Given the description of an element on the screen output the (x, y) to click on. 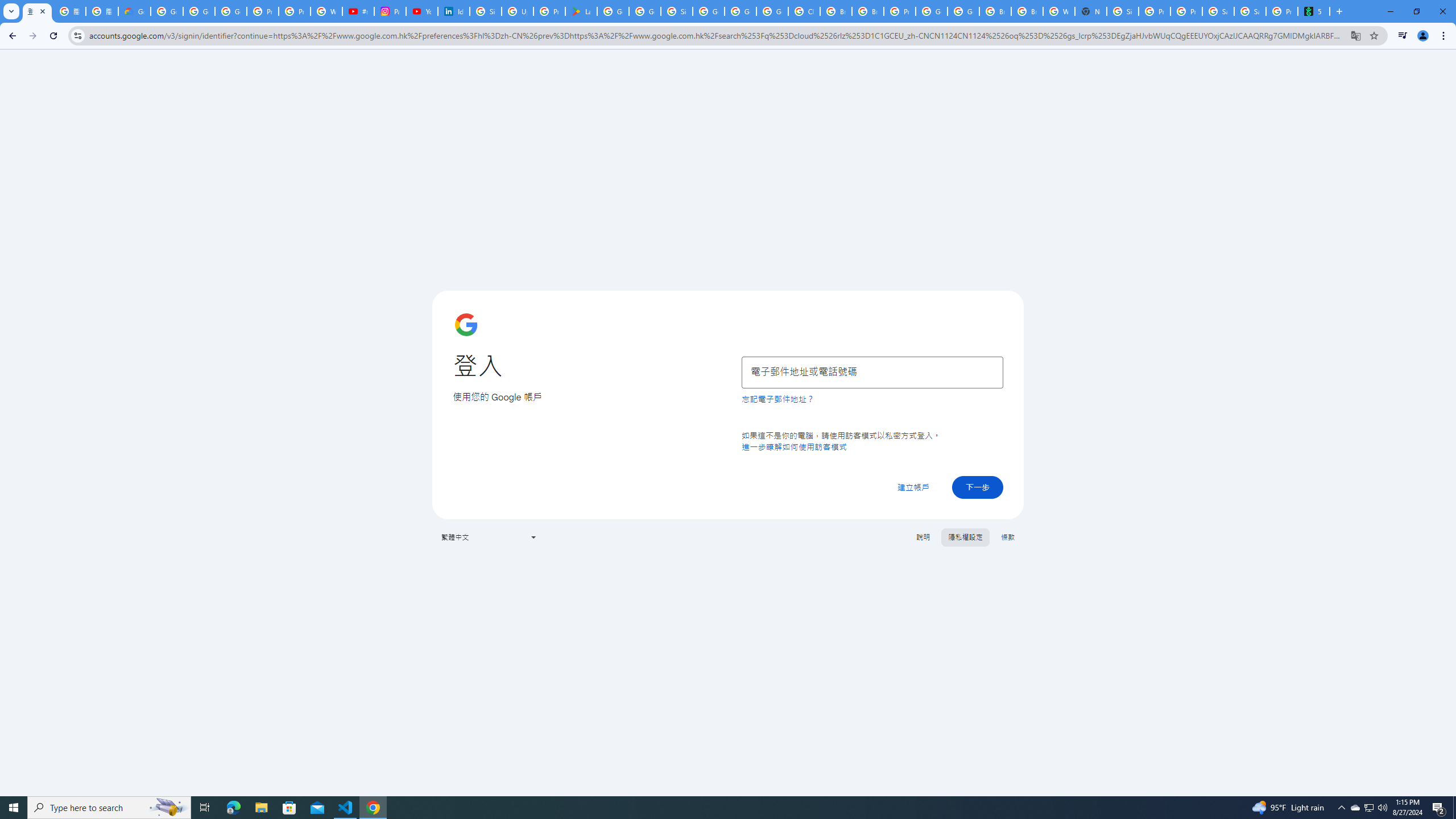
Browse Chrome as a guest - Computer - Google Chrome Help (1027, 11)
Last Shelter: Survival - Apps on Google Play (581, 11)
New Tab (1091, 11)
